Given the description of an element on the screen output the (x, y) to click on. 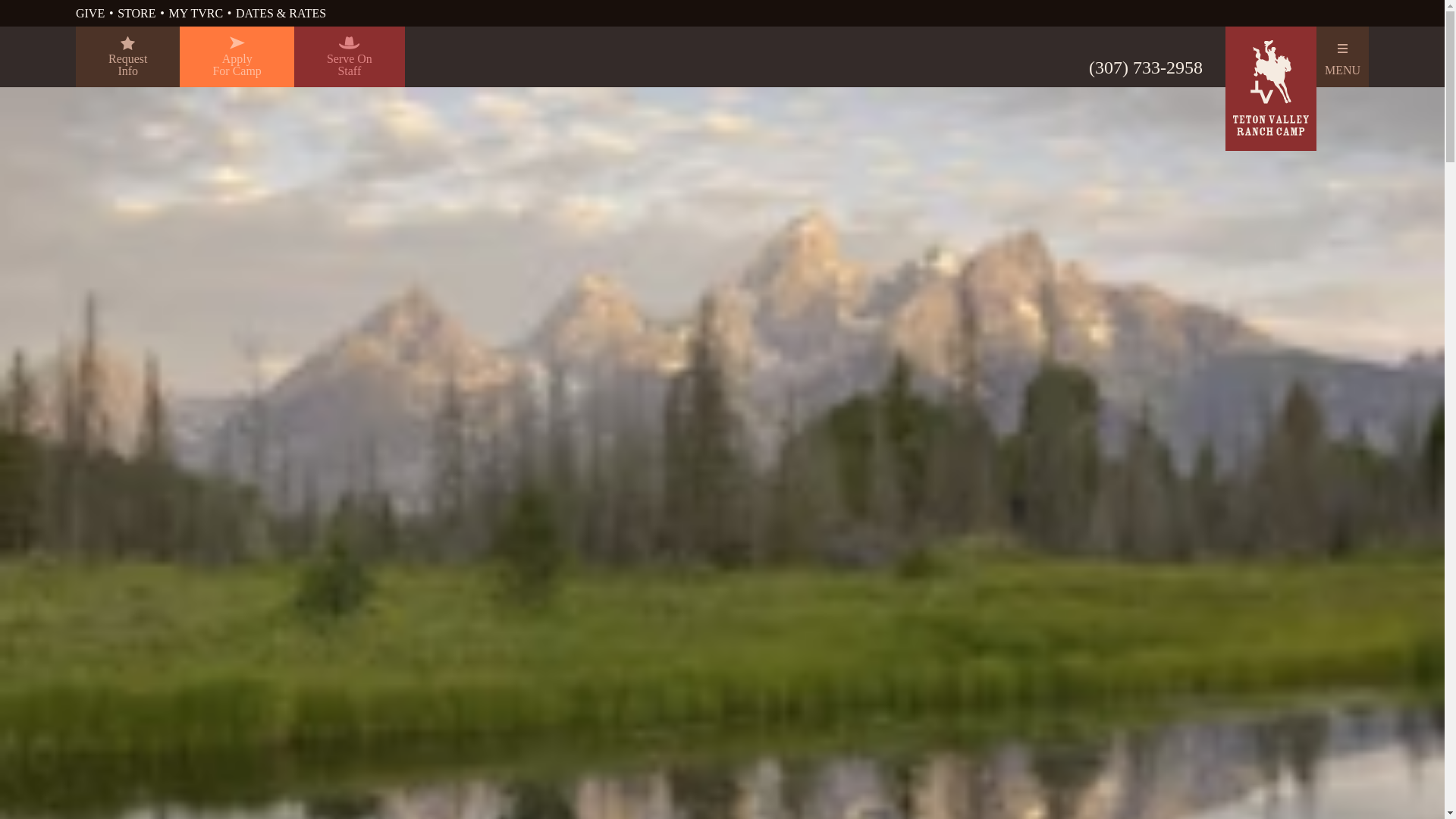
GIVE (127, 56)
STORE (89, 12)
MY TVRC (136, 12)
